Given the description of an element on the screen output the (x, y) to click on. 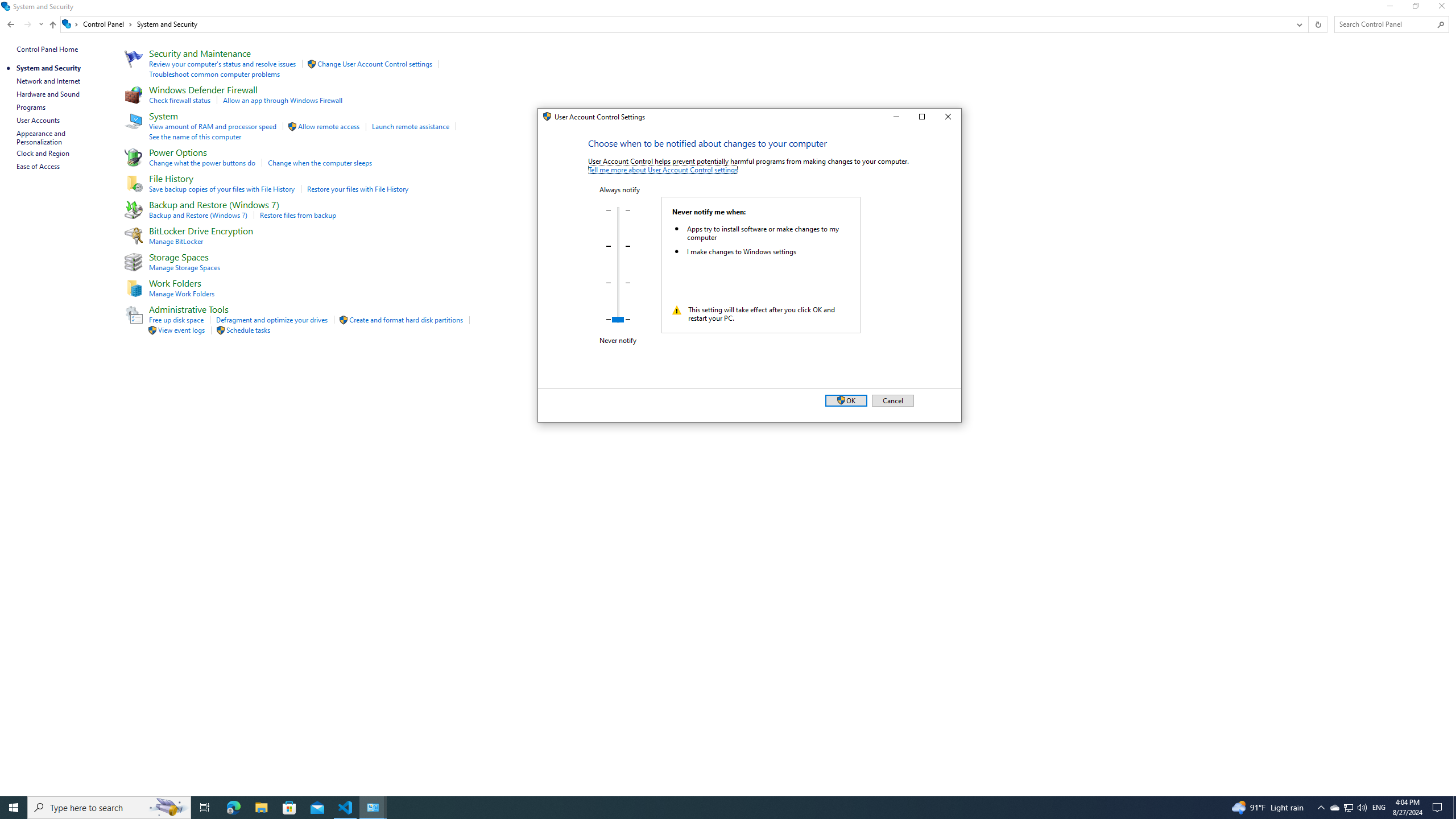
Q2790: 100% (1361, 807)
Running applications (706, 807)
OK (845, 400)
System (544, 119)
Notification Chevron (1320, 807)
Notification level: (618, 264)
Visual Studio Code - 1 running window (345, 807)
Search highlights icon opens search home window (167, 807)
User Promoted Notification Area (1347, 807)
Microsoft Store (289, 807)
Action Center, No new notifications (1439, 807)
Tell me more about User Account Control settings (663, 169)
Maximize (921, 116)
